Given the description of an element on the screen output the (x, y) to click on. 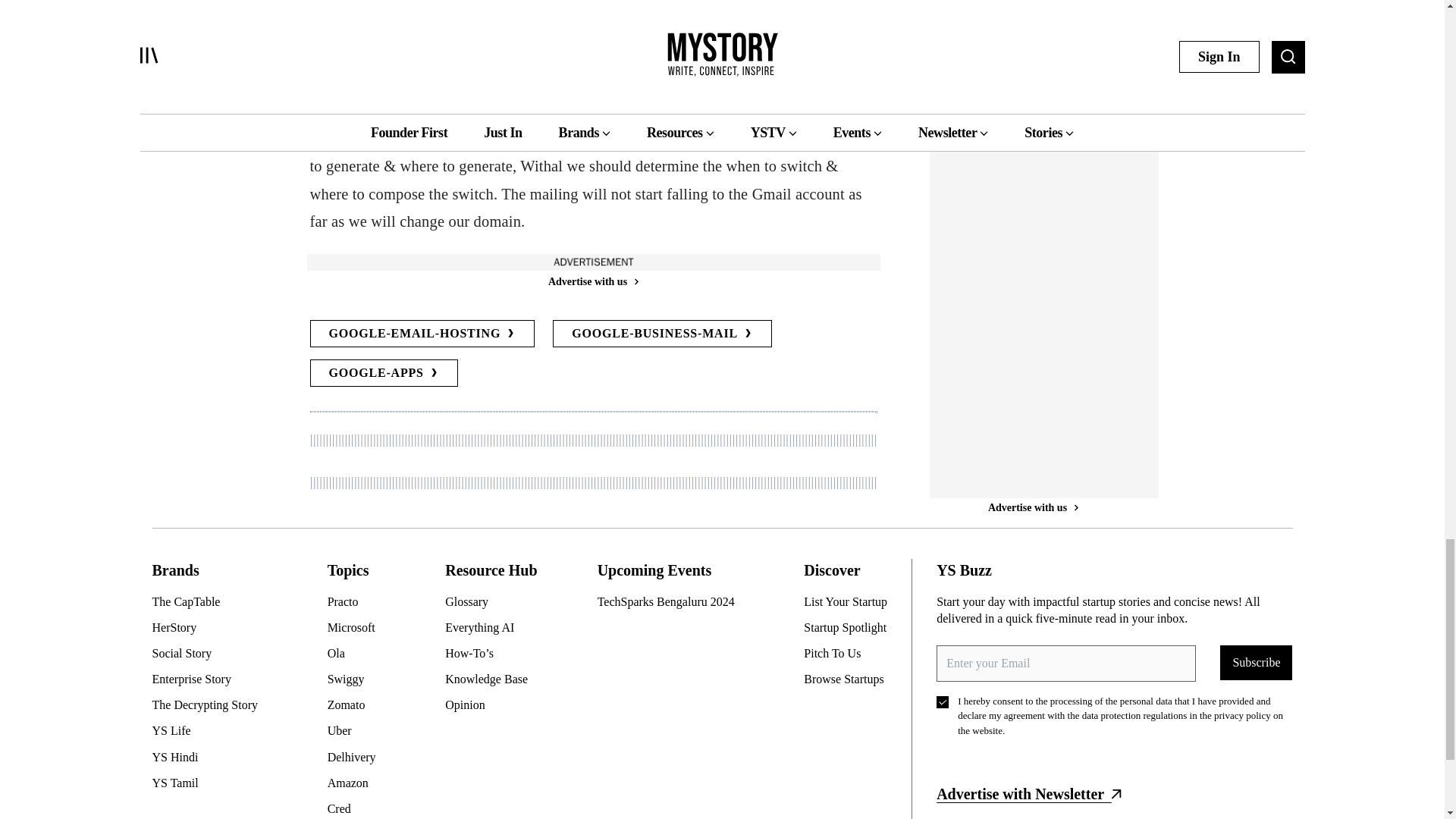
GOOGLE-EMAIL-HOSTING (421, 333)
The Decrypting Story (210, 704)
Advertise with us (1032, 186)
GOOGLE-APPS (382, 372)
Enterprise Story (210, 678)
HerStory (210, 627)
Advertise with us (592, 281)
Social Story (210, 653)
GOOGLE-BUSINESS-MAIL (662, 333)
The CapTable (210, 601)
